Given the description of an element on the screen output the (x, y) to click on. 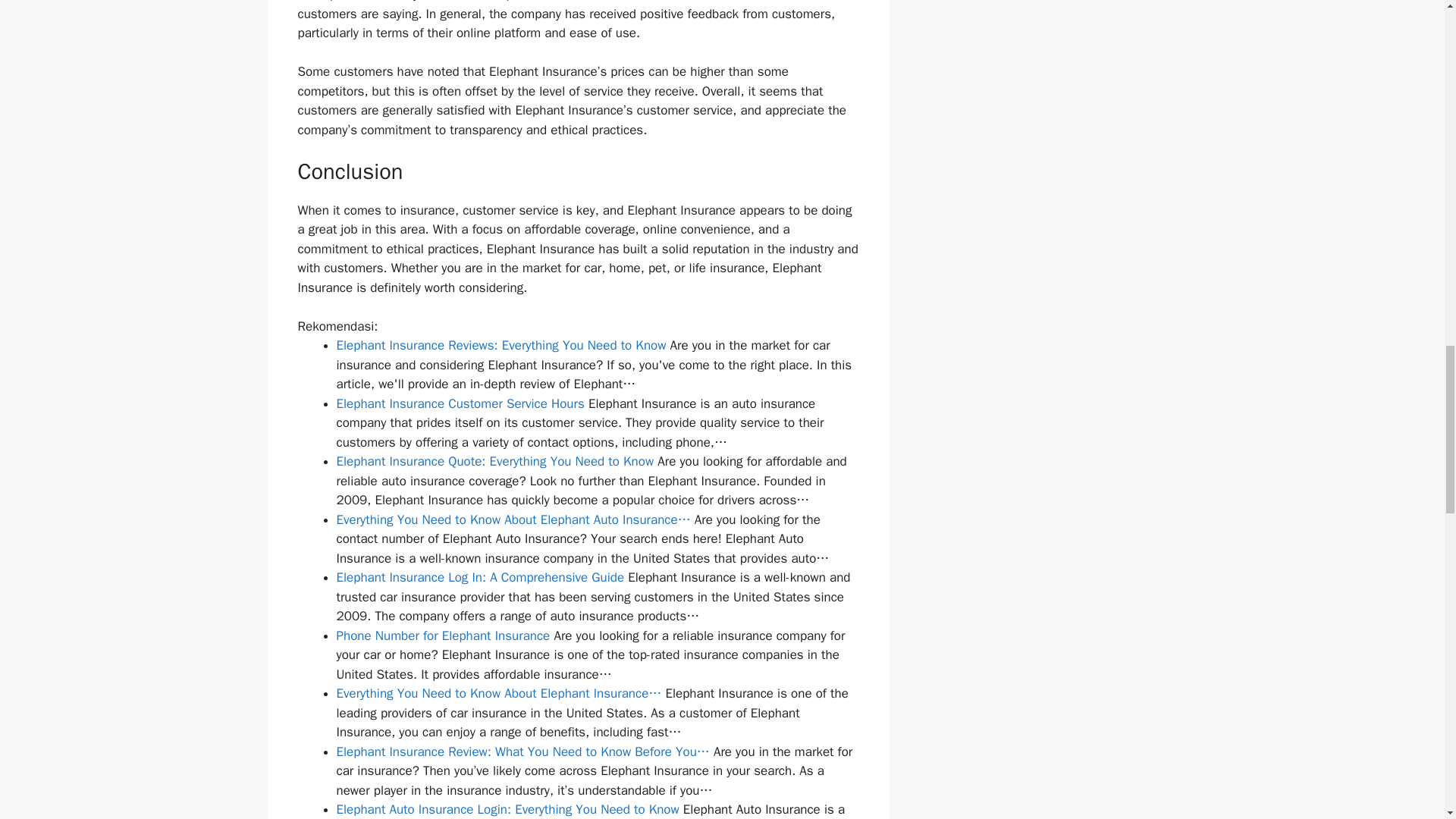
Elephant Auto Insurance Login: Everything You Need to Know (507, 809)
Elephant Insurance Reviews: Everything You Need to Know (501, 344)
Elephant Insurance Customer Service Hours (460, 403)
Elephant Insurance Log In: A Comprehensive Guide (480, 577)
Phone Number for Elephant Insurance (443, 635)
Elephant Insurance Quote: Everything You Need to Know (494, 461)
